Given the description of an element on the screen output the (x, y) to click on. 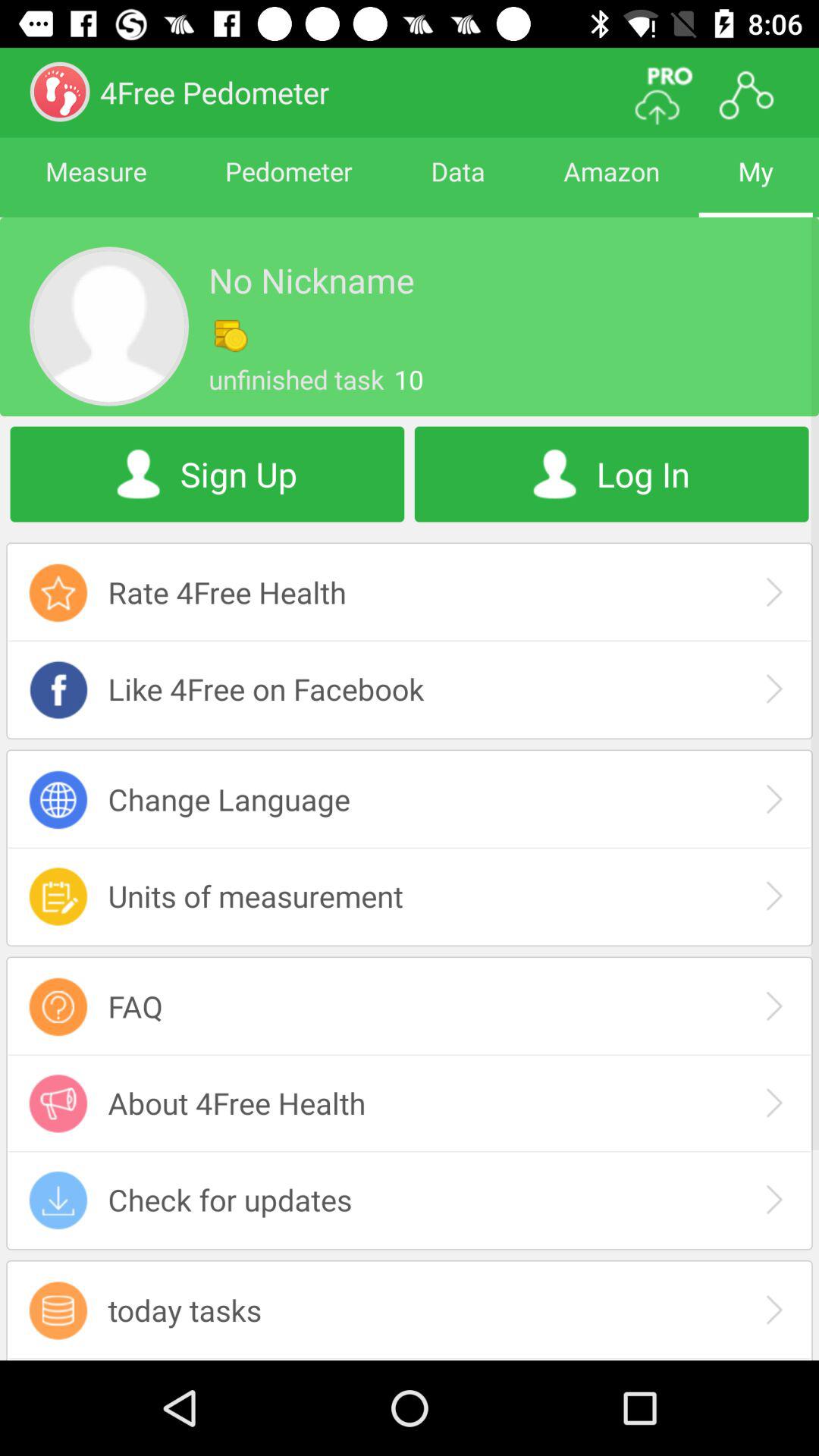
select the units of measurement app (409, 896)
